Given the description of an element on the screen output the (x, y) to click on. 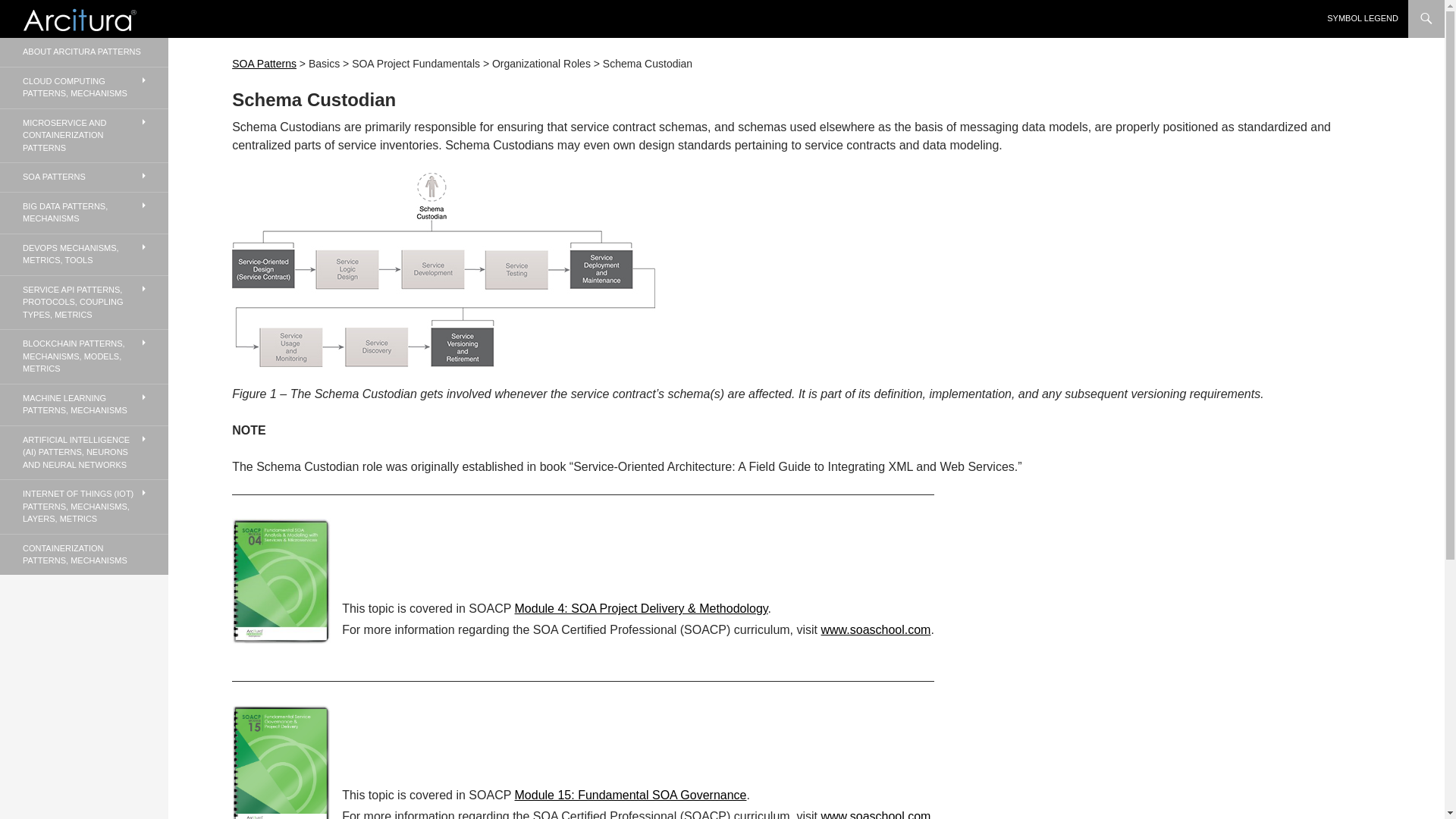
Module 15: Fundamental SOA Governance (630, 794)
CLOUD COMPUTING PATTERNS, MECHANISMS (84, 86)
ABOUT ARCITURA PATTERNS (84, 51)
SOA Patterns (264, 63)
www.soaschool.com (875, 629)
SYMBOL LEGEND (1362, 18)
www.soaschool.com (875, 814)
